Given the description of an element on the screen output the (x, y) to click on. 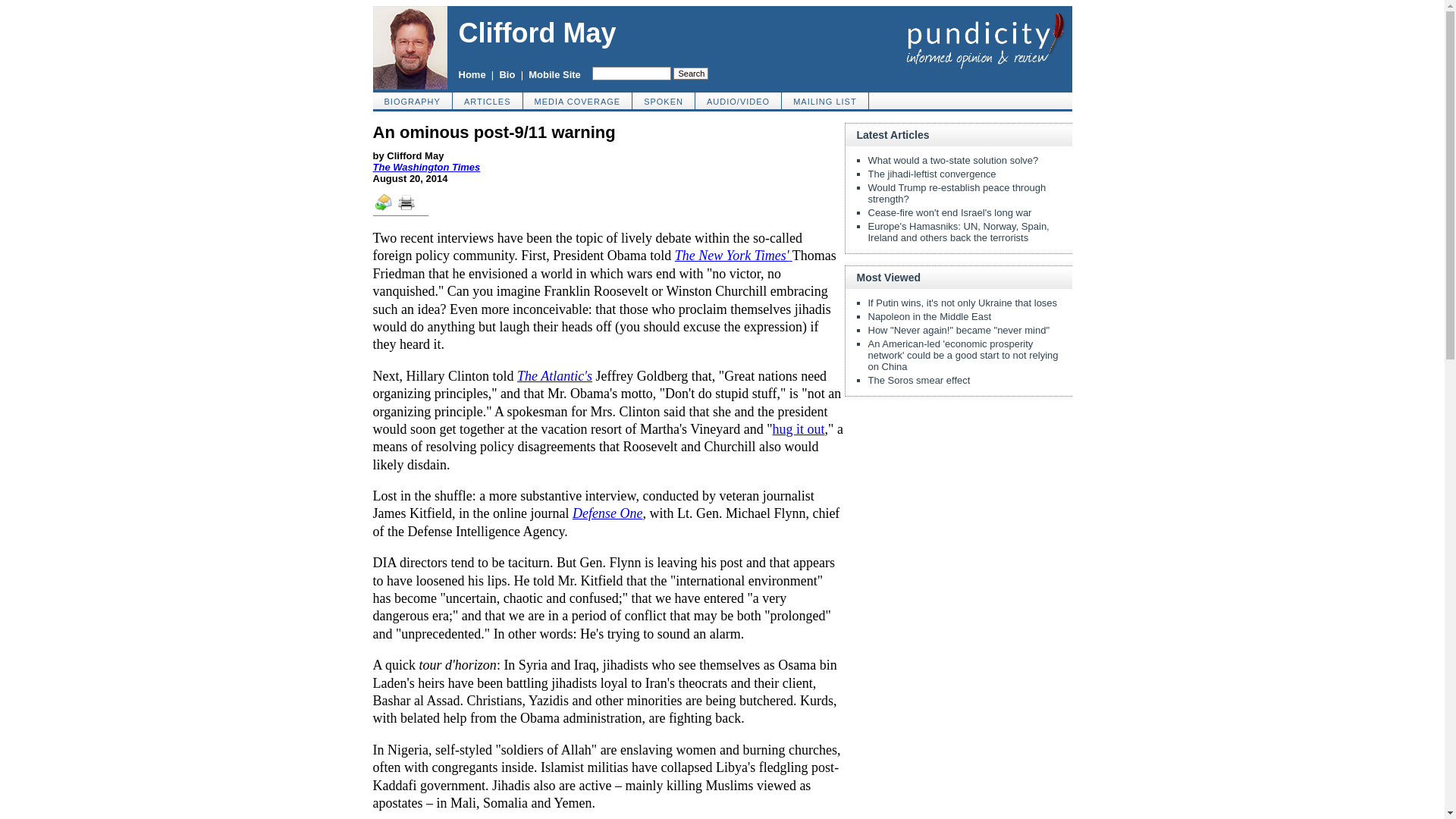
The Washington Times (426, 166)
The Soros smear effect (918, 379)
ARTICLES (487, 100)
Mobile Site (554, 74)
Print (411, 207)
Cease-fire won't end Israel's long war (948, 212)
Bio (507, 74)
Napoleon in the Middle East (929, 316)
BIOGRAPHY (412, 100)
hug it out (799, 428)
Home (471, 74)
MAILING LIST (825, 100)
SPOKEN (663, 100)
